Given the description of an element on the screen output the (x, y) to click on. 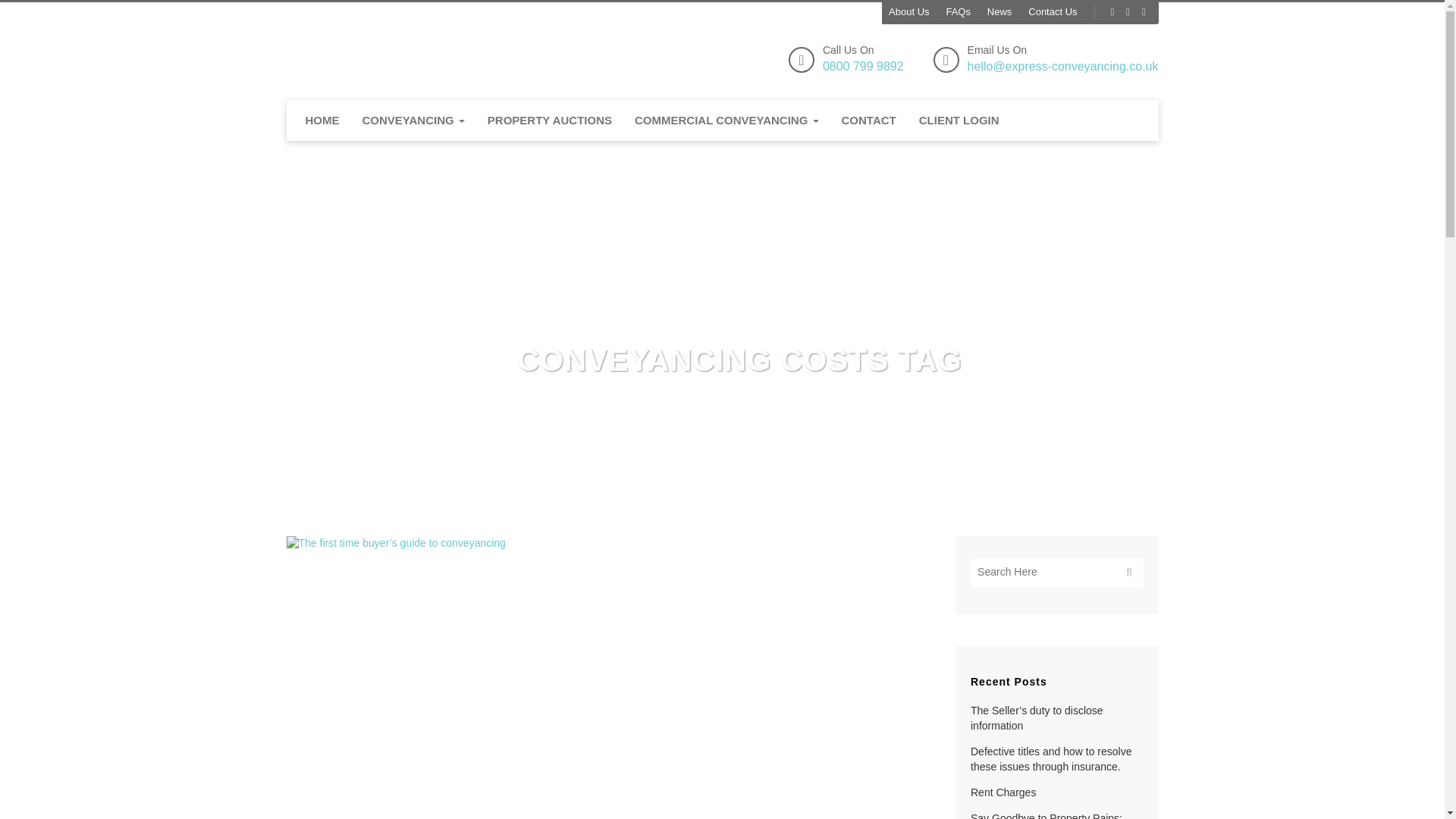
COMMERCIAL CONVEYANCING (726, 119)
Rent Charges (1003, 792)
CONTACT (868, 119)
News (863, 59)
Contact Us (999, 11)
CONVEYANCING (1052, 11)
PROPERTY AUCTIONS (413, 119)
About Us (549, 119)
HOME (908, 11)
CLIENT LOGIN (322, 119)
FAQs (958, 119)
